Given the description of an element on the screen output the (x, y) to click on. 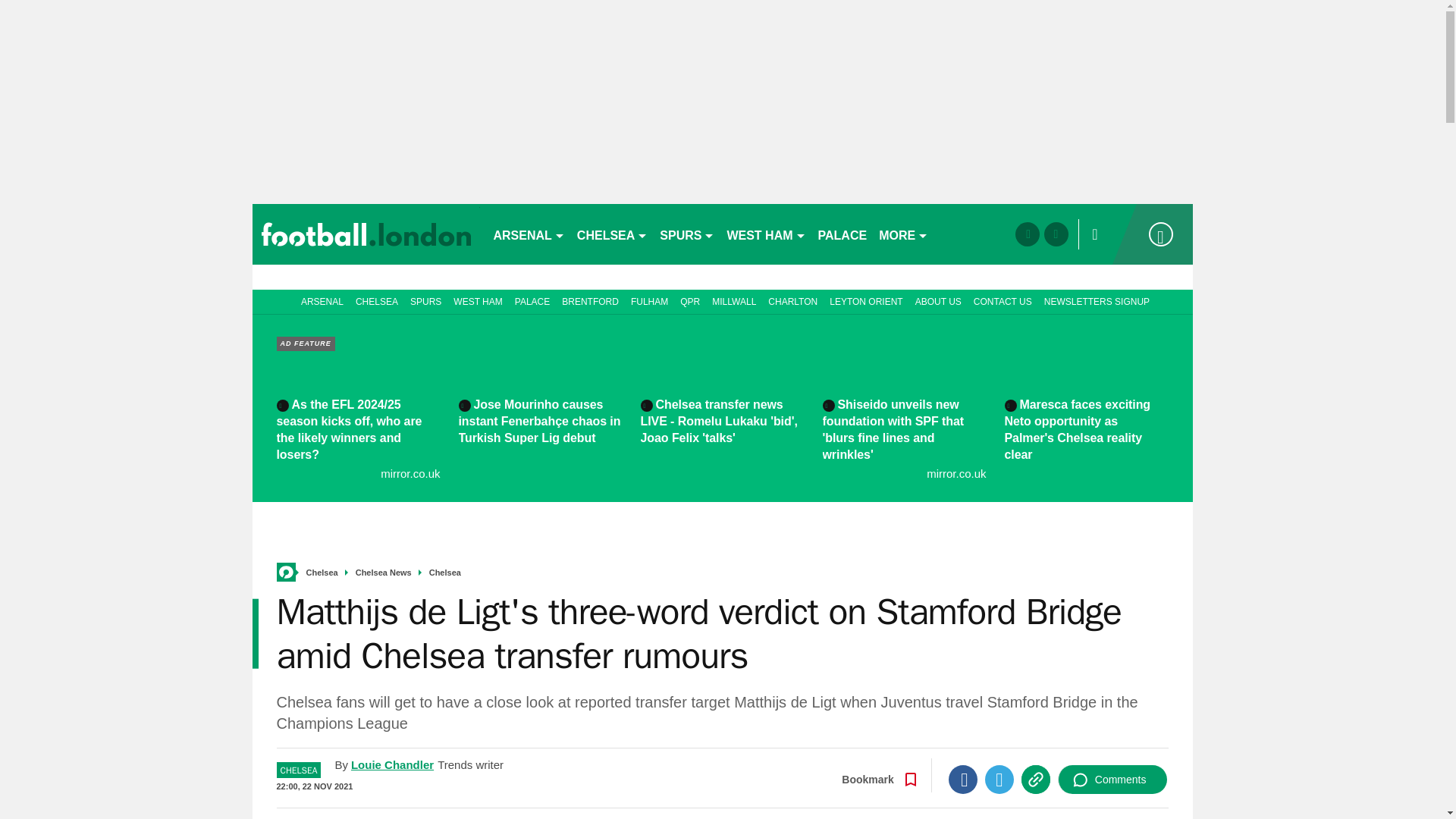
Comments (1112, 778)
Facebook (962, 778)
MORE (903, 233)
ARSENAL (528, 233)
twitter (1055, 233)
WEST HAM (765, 233)
SPURS (686, 233)
footballlondon (365, 233)
Twitter (999, 778)
facebook (1026, 233)
